Given the description of an element on the screen output the (x, y) to click on. 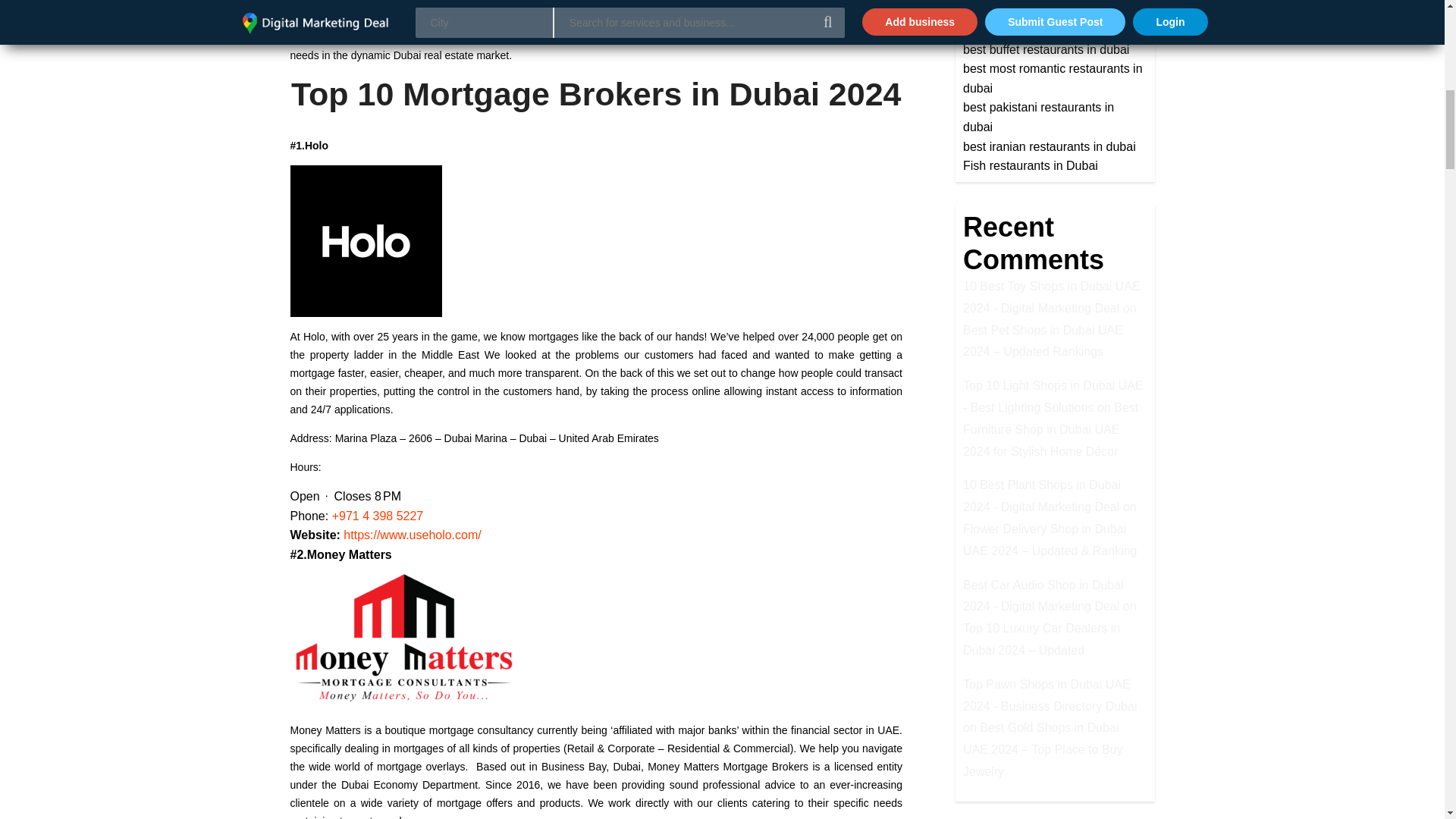
April 18, 2024 (411, 2)
